Given the description of an element on the screen output the (x, y) to click on. 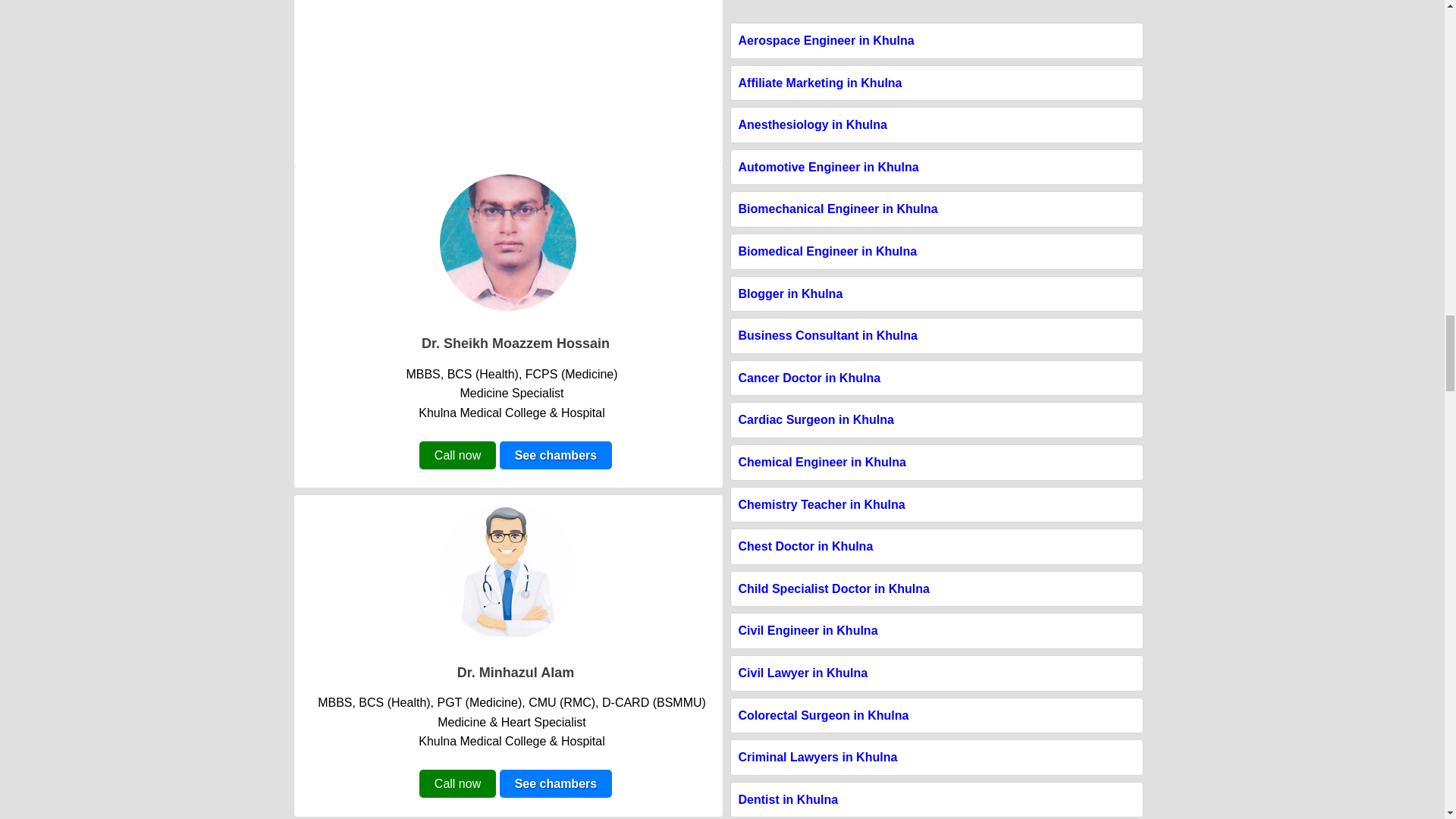
See chambers (555, 783)
See chambers (555, 455)
Dr. Minhazul Alam (515, 672)
Dr. Sheikh Moazzem Hossain (516, 343)
